Given the description of an element on the screen output the (x, y) to click on. 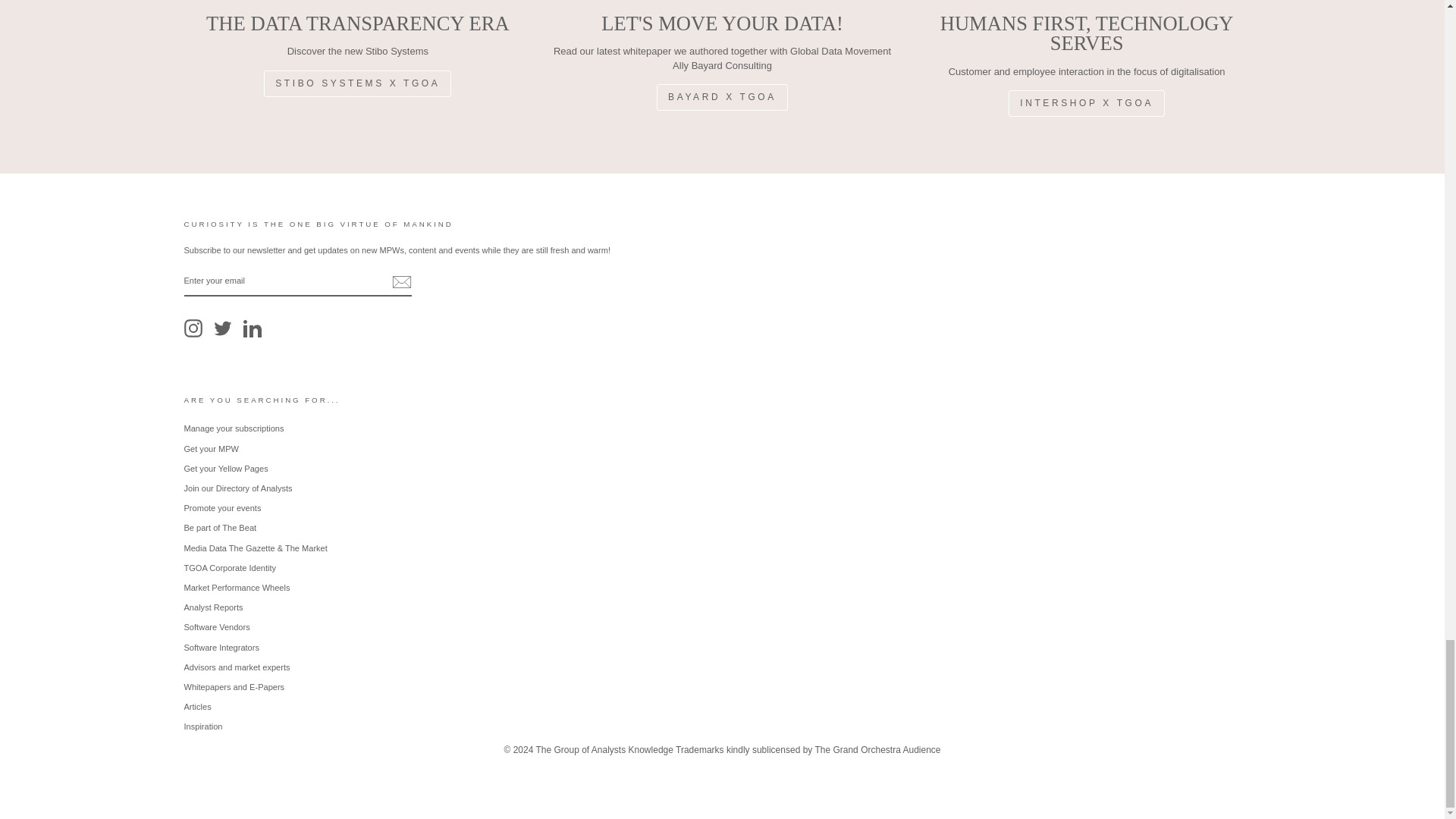
The Group of Analysts on LinkedIn (251, 328)
The Group of Analysts on Twitter (222, 328)
The Group of Analysts on Instagram (192, 328)
